Given the description of an element on the screen output the (x, y) to click on. 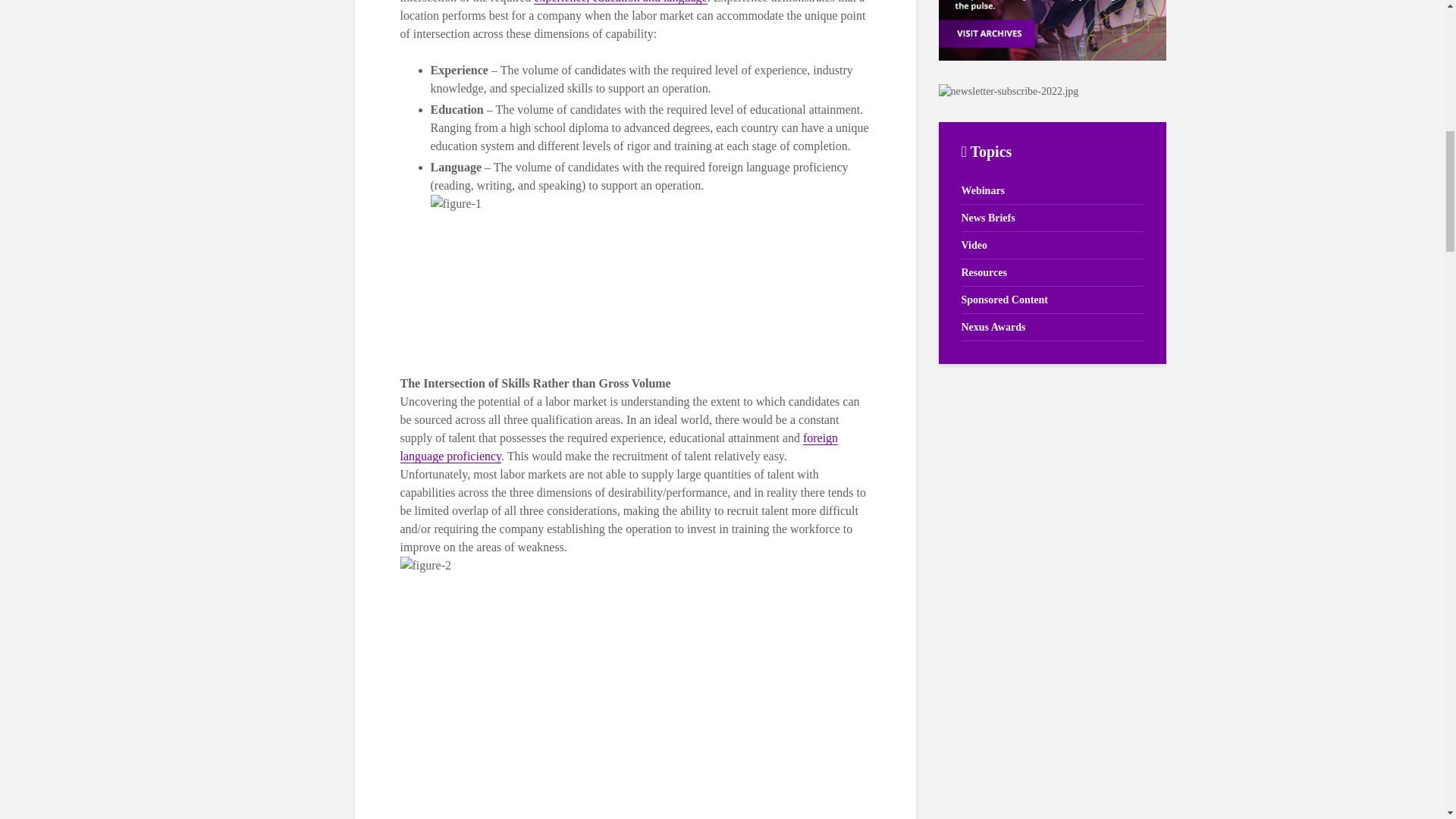
experience, education and language (620, 2)
foreign language proficiency (619, 447)
